Given the description of an element on the screen output the (x, y) to click on. 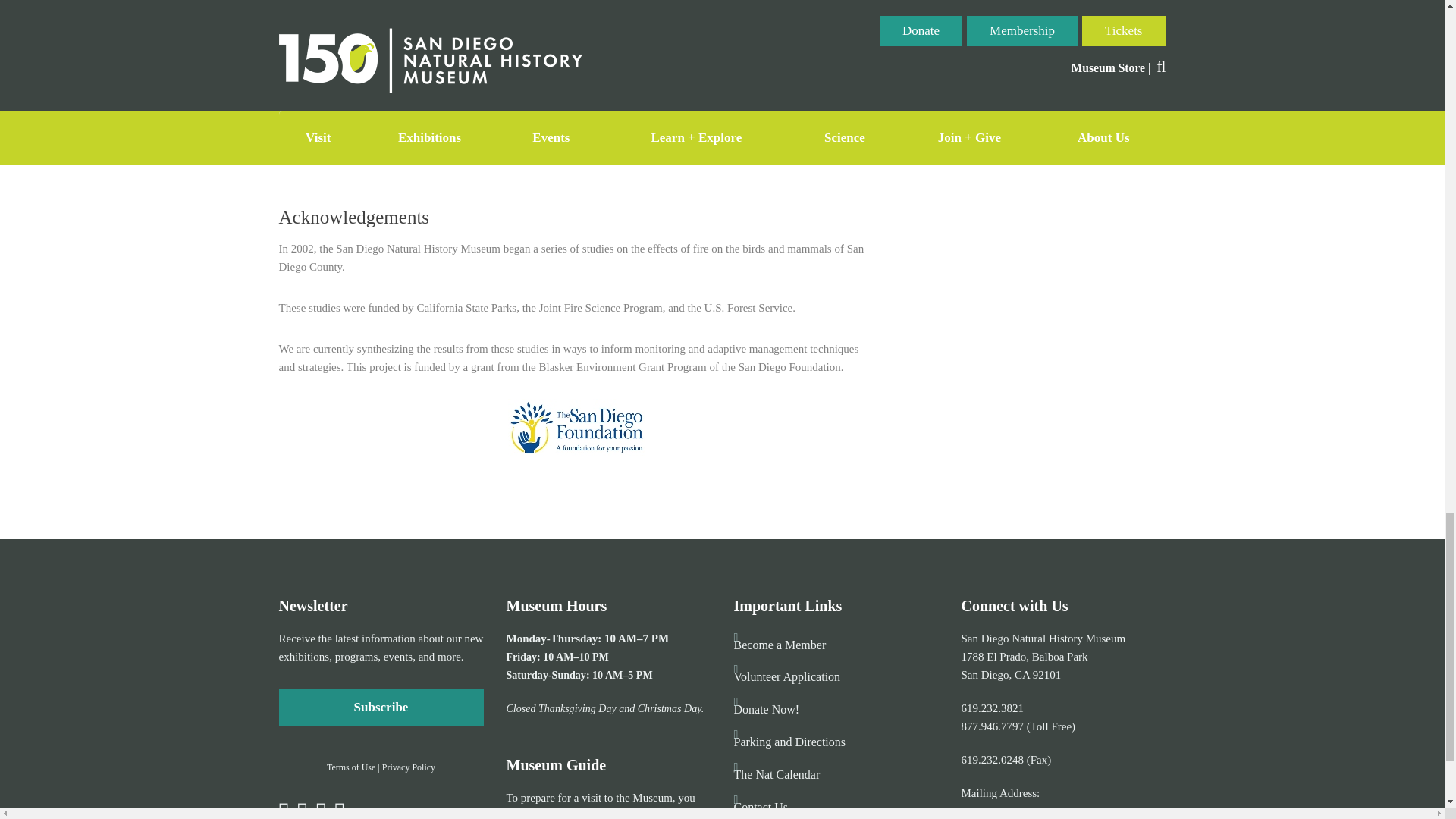
Subscribe (381, 707)
